Given the description of an element on the screen output the (x, y) to click on. 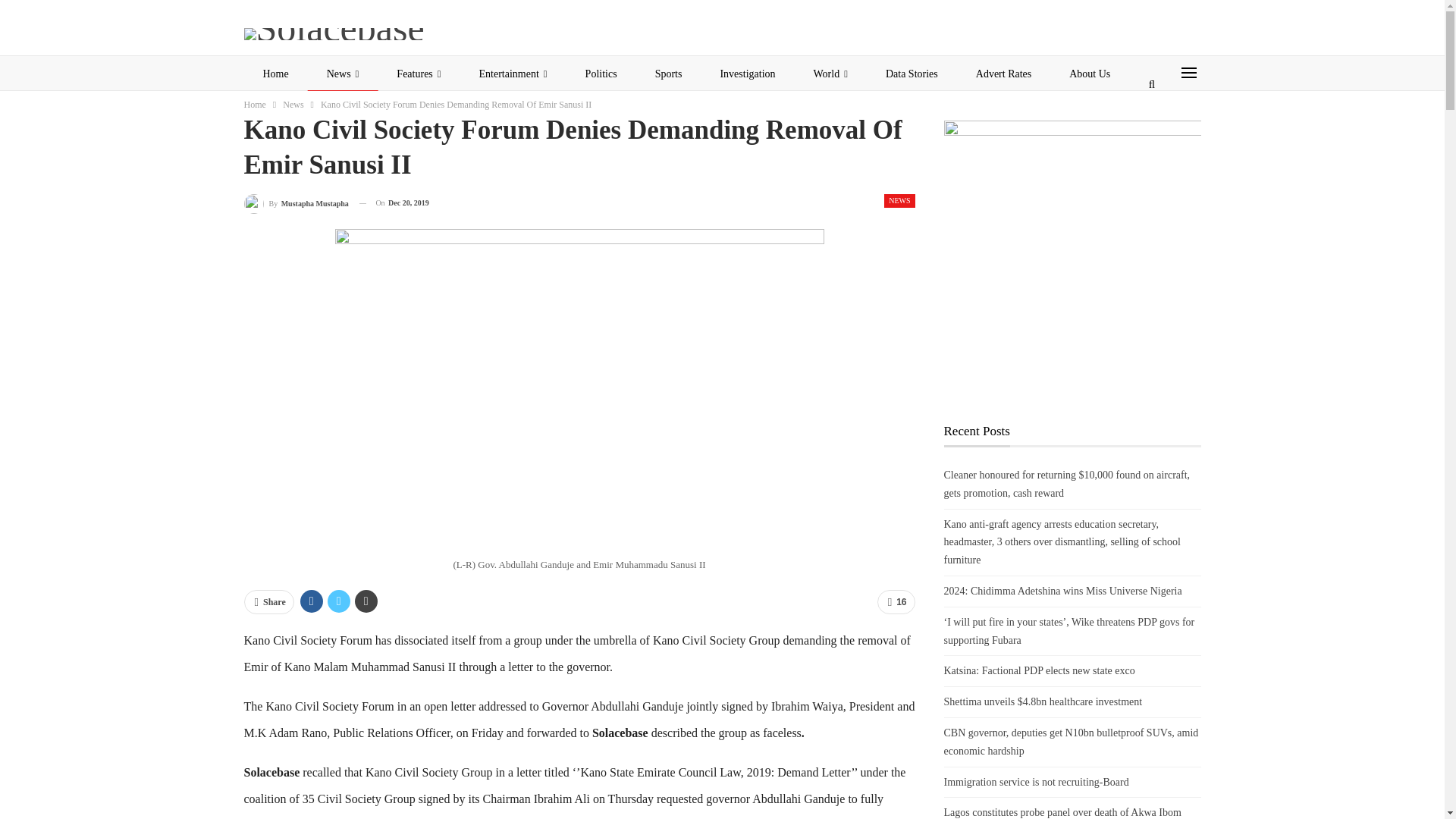
Home (255, 104)
Browse Author Articles (296, 203)
Politics (601, 74)
Sports (668, 74)
World (830, 74)
Features (418, 74)
By Mustapha Mustapha (296, 203)
Home (275, 74)
Data Stories (911, 74)
Entertainment (513, 74)
